Given the description of an element on the screen output the (x, y) to click on. 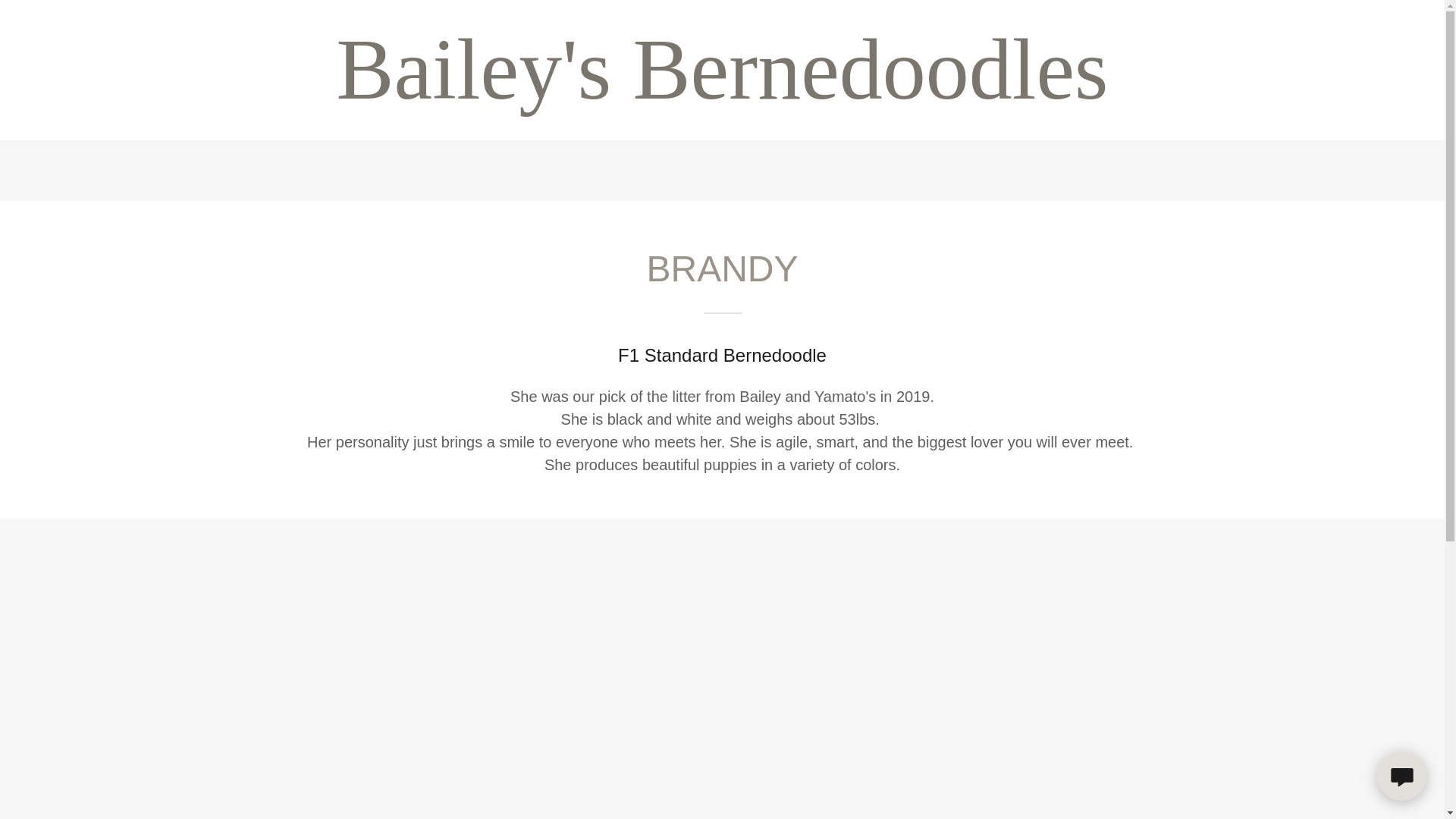
Bailey's Bernedoodles (721, 93)
Bailey's Bernedoodles (721, 93)
